Given the description of an element on the screen output the (x, y) to click on. 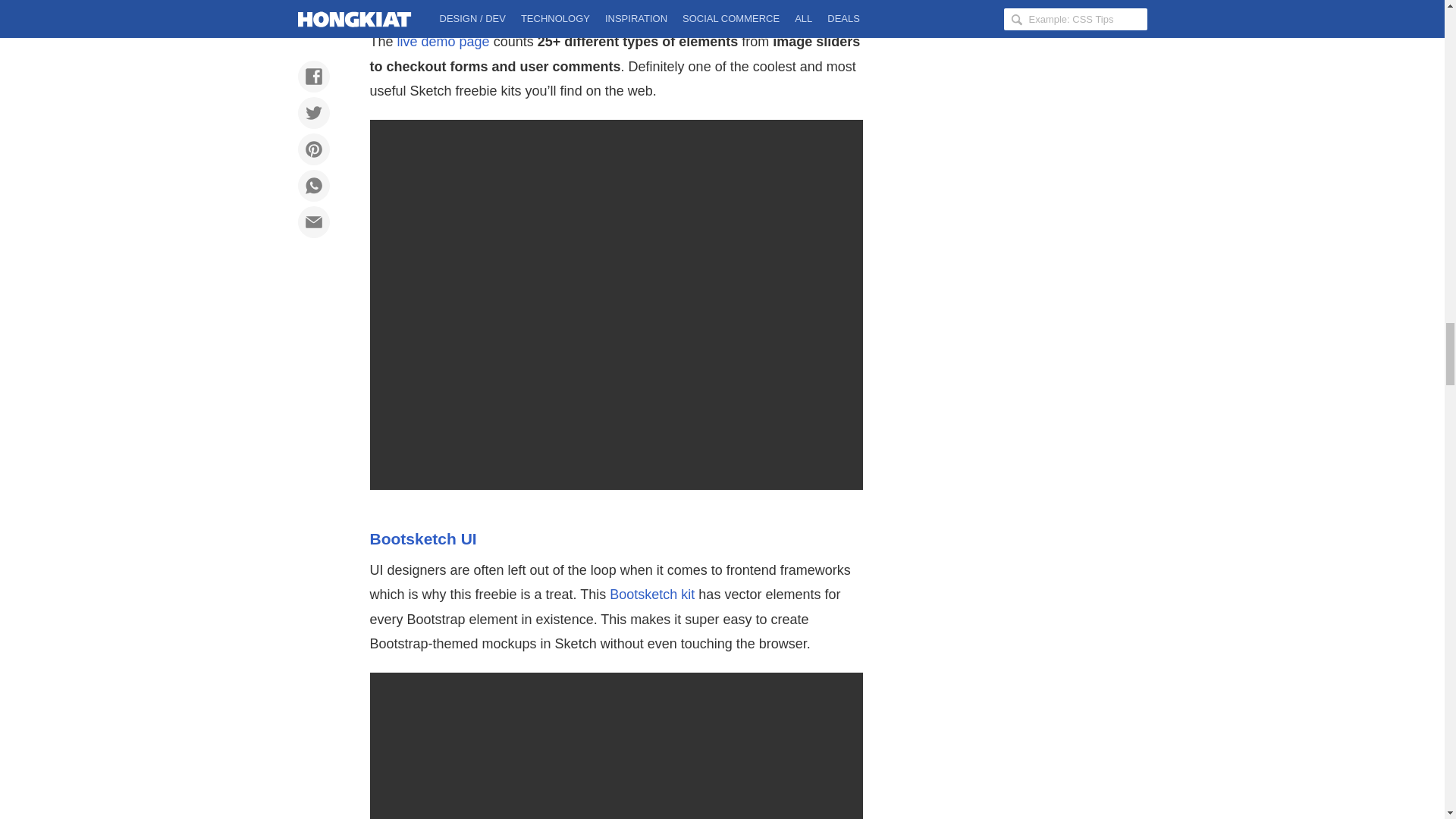
Bootsketch UI (423, 538)
live demo page (443, 41)
Bootsketch kit (652, 594)
